Given the description of an element on the screen output the (x, y) to click on. 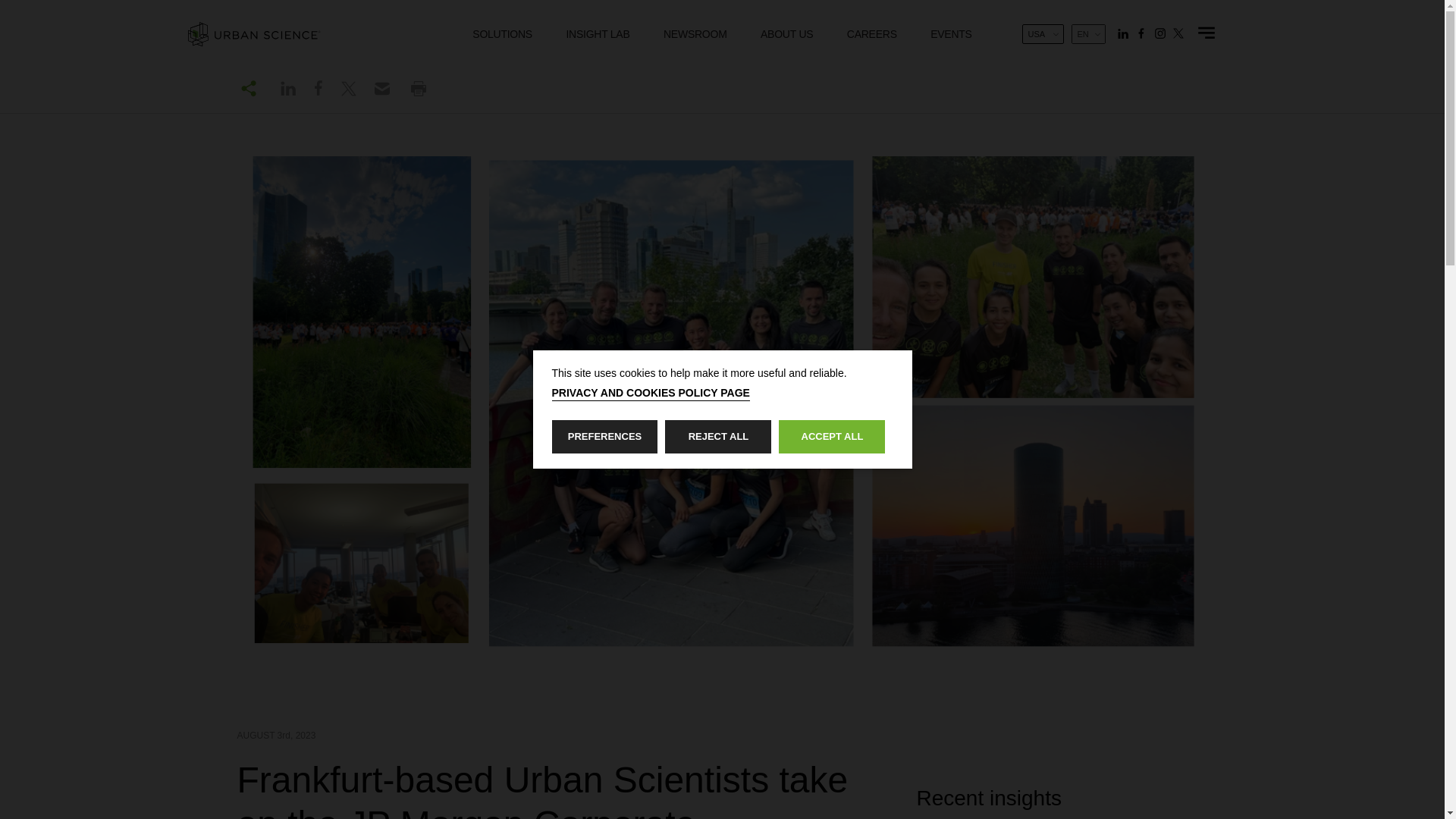
USA (1042, 34)
NEWSROOM (694, 35)
SOLUTIONS (502, 35)
INSIGHT LAB (597, 35)
EVENTS (951, 35)
ABOUT US (786, 35)
EN (1088, 34)
CAREERS (871, 35)
